Given the description of an element on the screen output the (x, y) to click on. 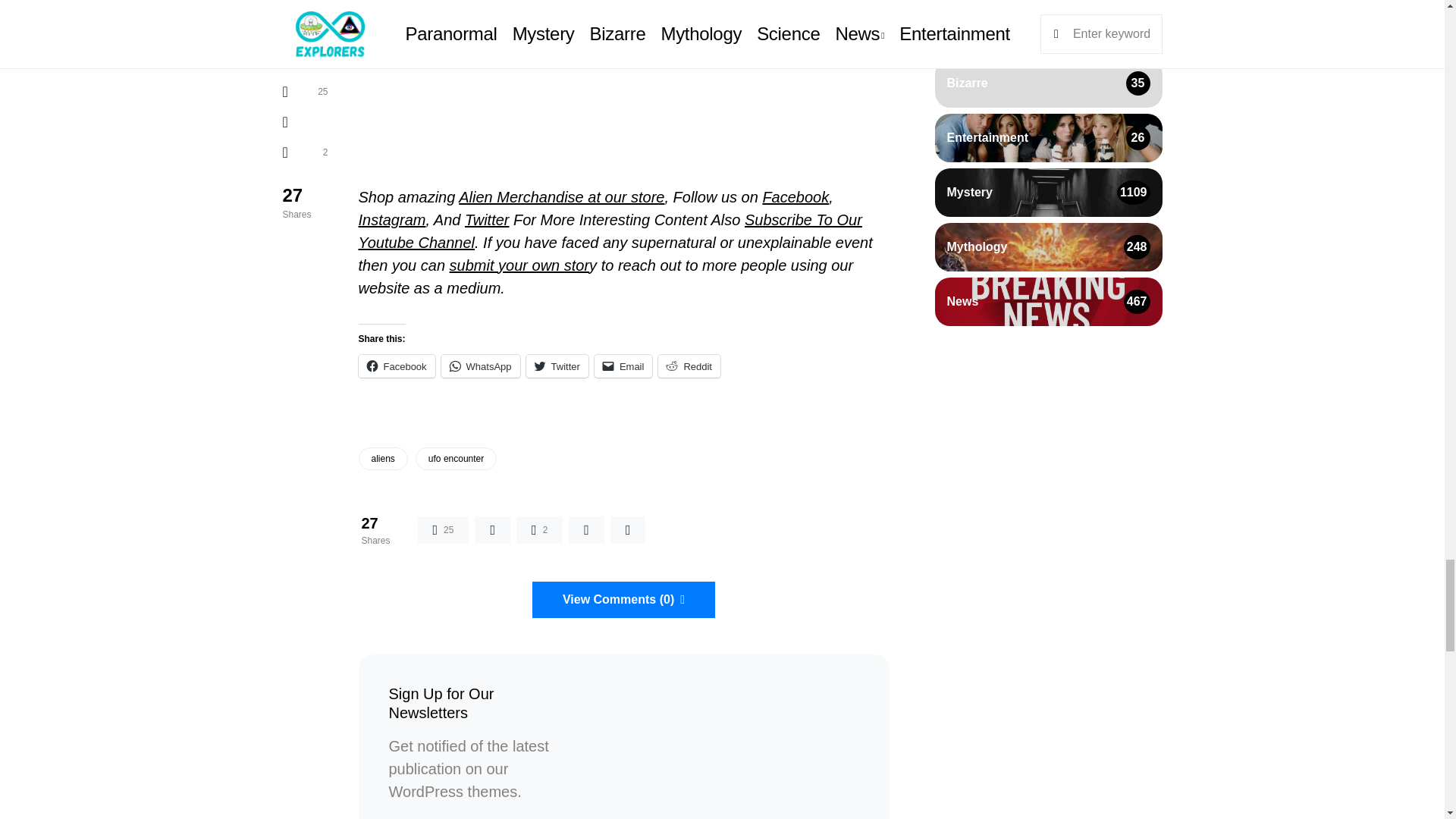
Click to share on WhatsApp (480, 365)
Click to share on Facebook (395, 365)
Click to share on Twitter (556, 365)
Click to share on Reddit (689, 365)
Click to email a link to a friend (623, 365)
